Given the description of an element on the screen output the (x, y) to click on. 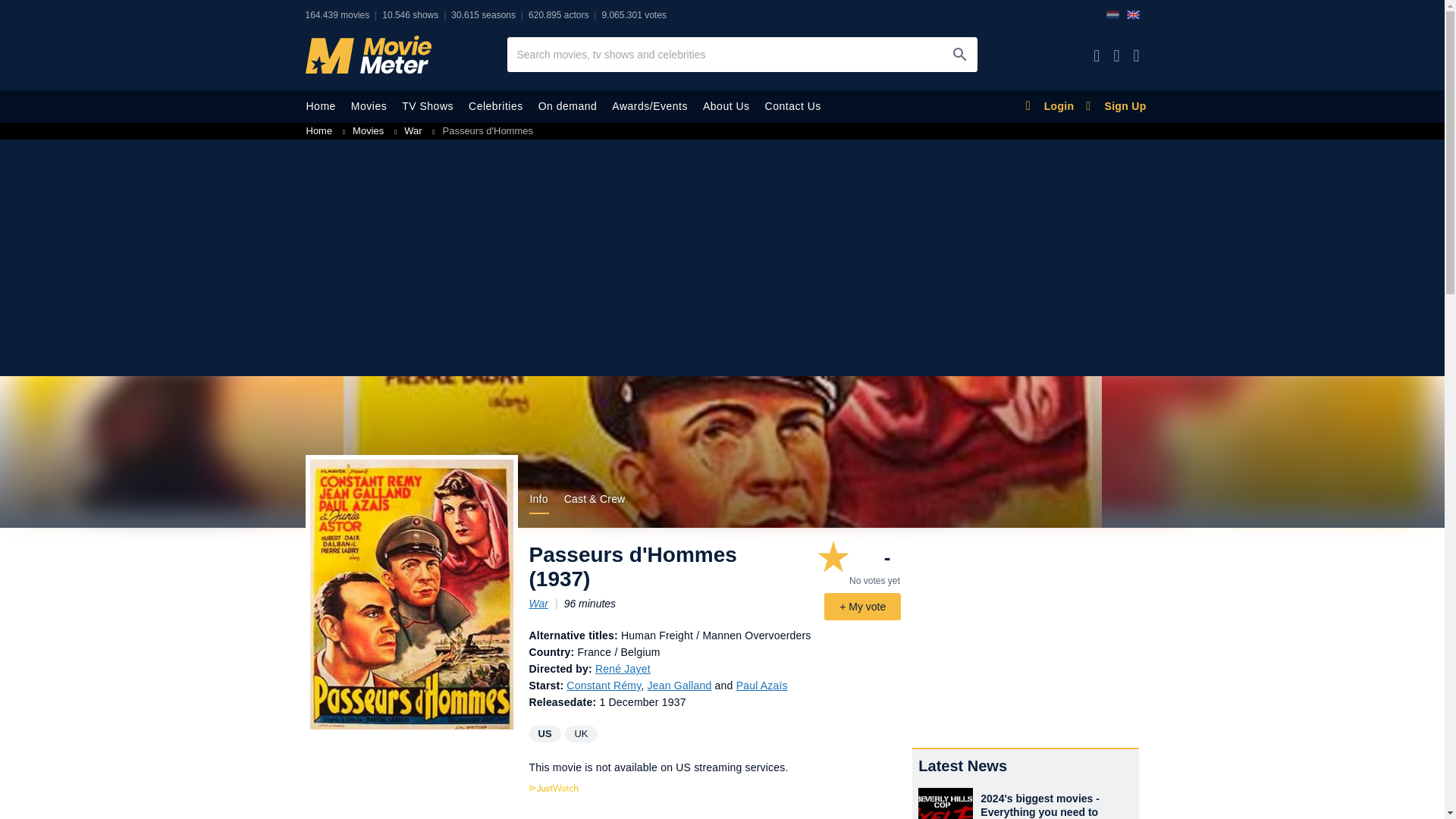
Home (320, 106)
Celebrities (495, 106)
On demand (567, 106)
TV Shows (427, 106)
Movies (368, 106)
